Given the description of an element on the screen output the (x, y) to click on. 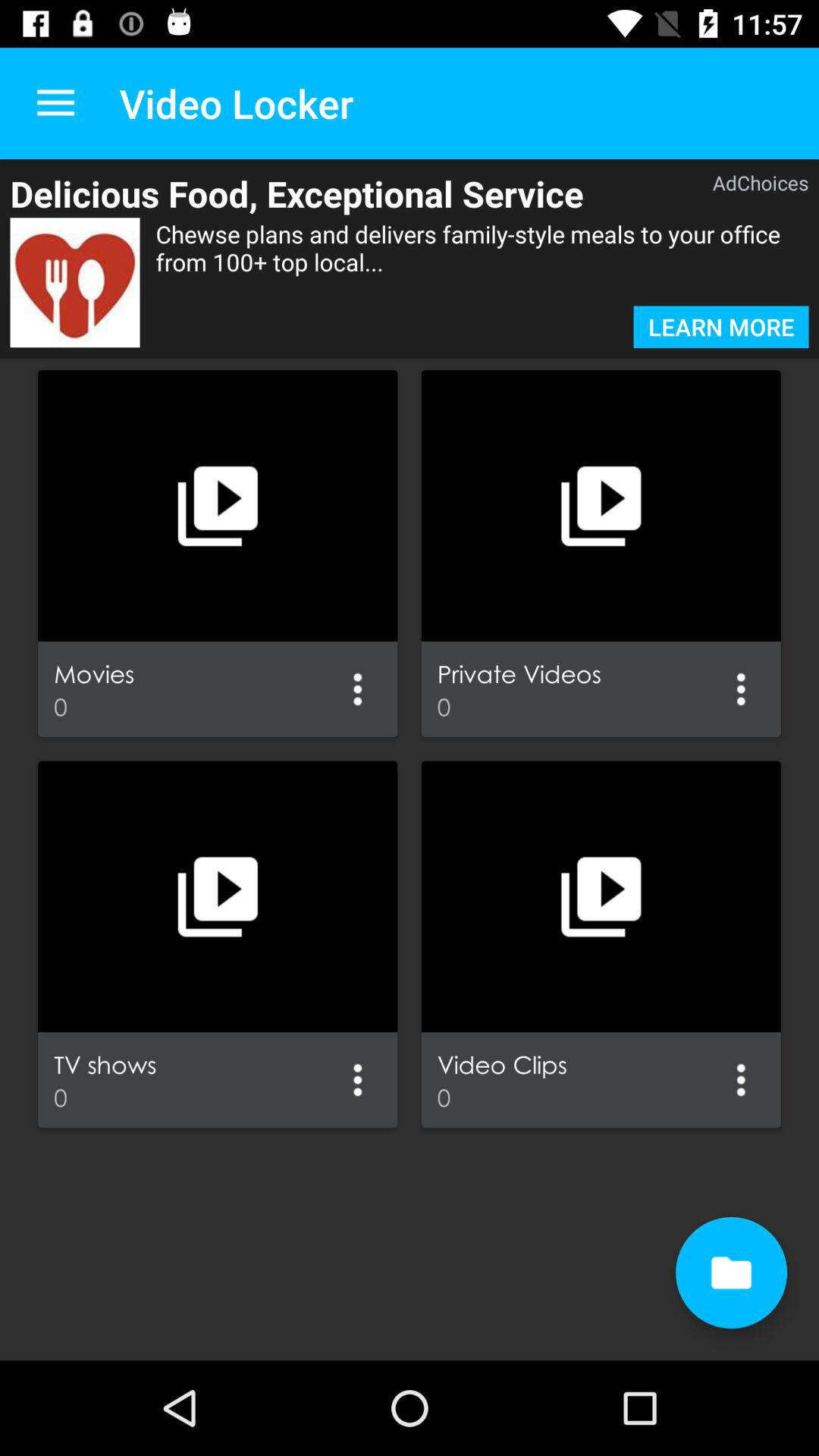
open file (731, 1272)
